Given the description of an element on the screen output the (x, y) to click on. 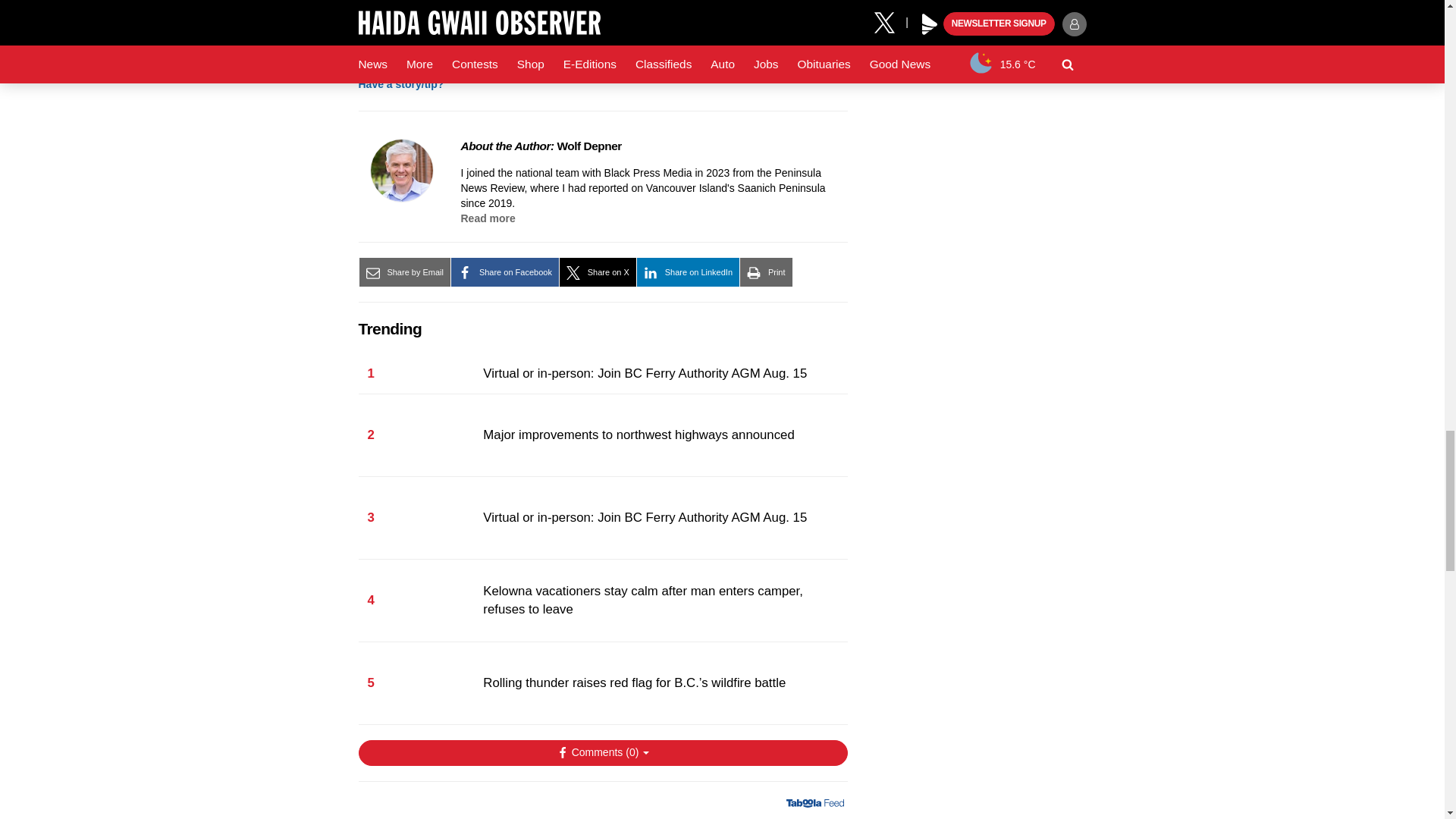
Show Comments (602, 752)
